Given the description of an element on the screen output the (x, y) to click on. 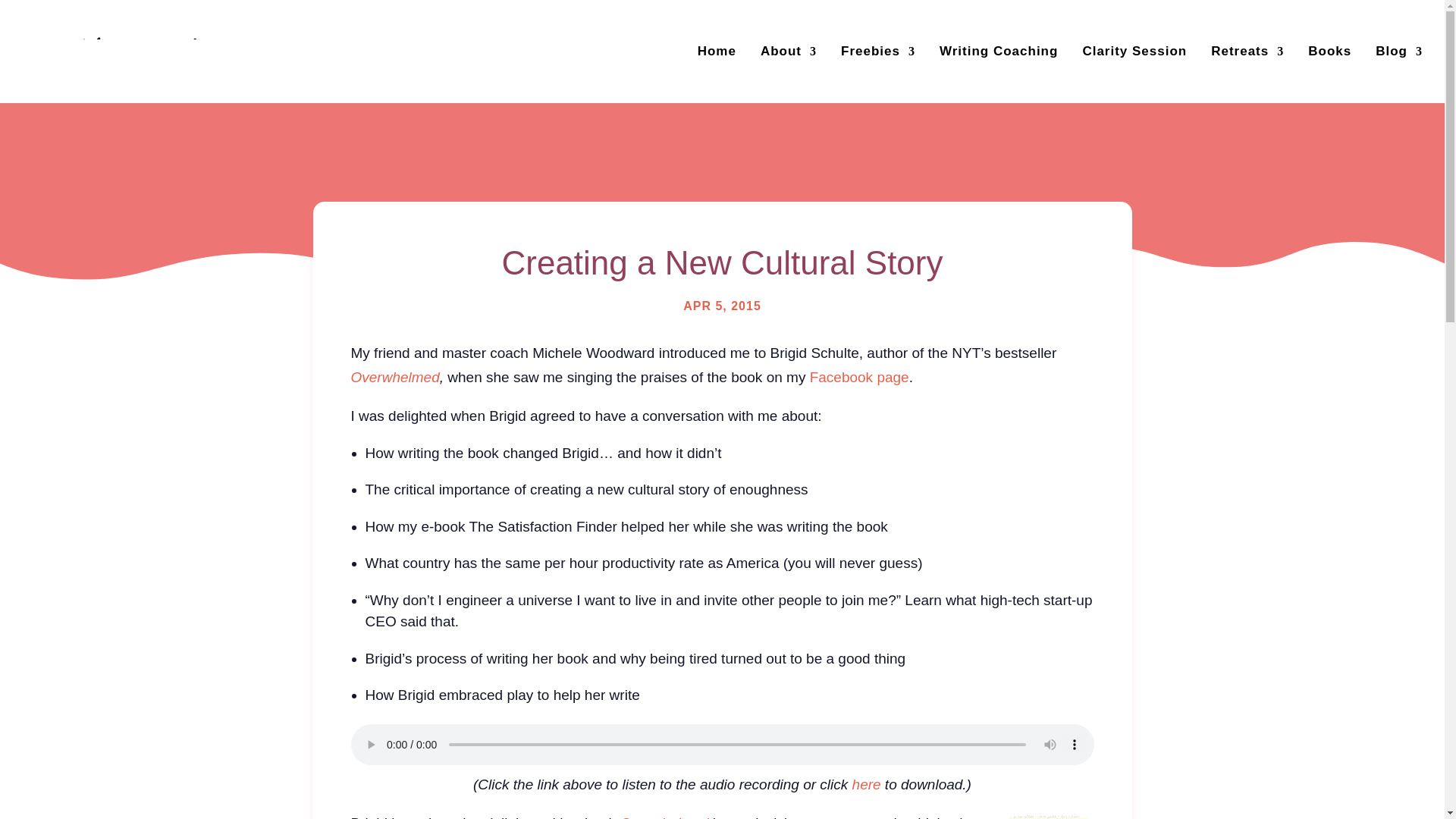
Writing Coaching (998, 51)
About (788, 51)
Facebook page (858, 376)
Overwhelmed (394, 376)
Overwhelmed (663, 816)
Clarity Session (1133, 51)
Retreats (1247, 51)
Freebies (878, 51)
here (865, 784)
